Given the description of an element on the screen output the (x, y) to click on. 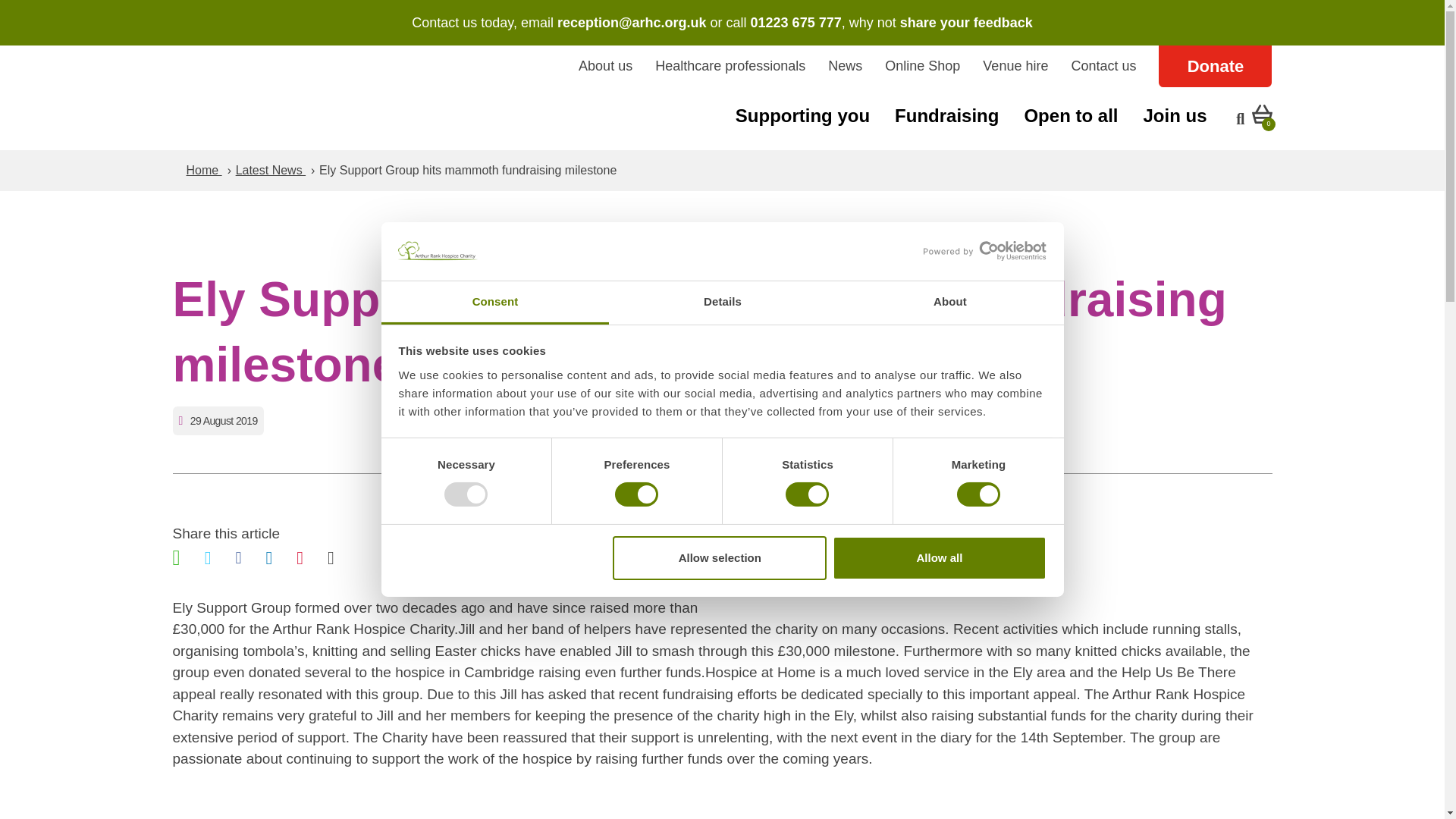
Consent (494, 302)
Details (721, 302)
About (948, 302)
